Given the description of an element on the screen output the (x, y) to click on. 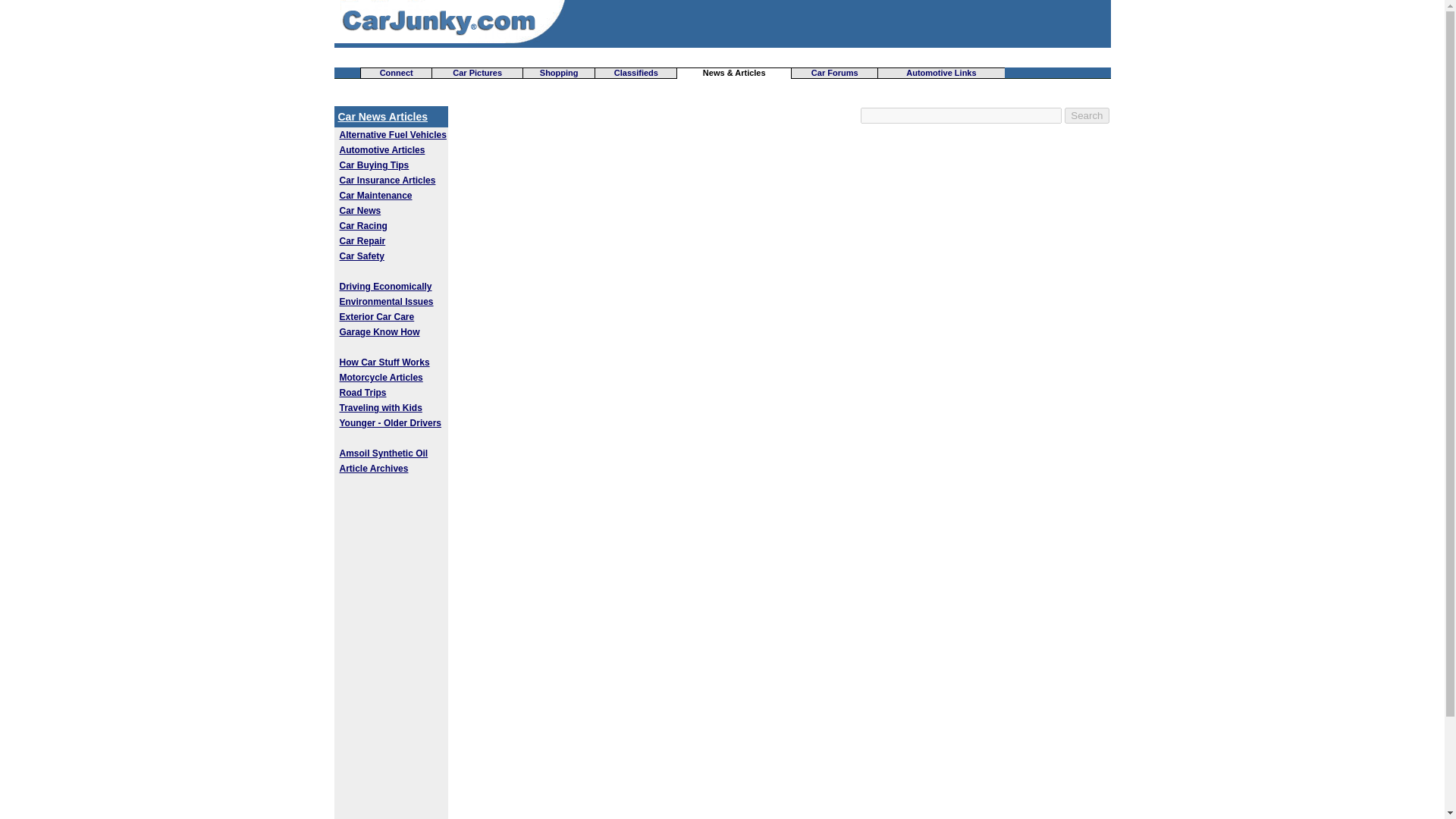
Alternative Fuel Vehicles (392, 134)
Garage Know How (379, 331)
Car News Articles (382, 116)
Search (1086, 115)
Automotive Links (940, 72)
Car Buying Tips (374, 164)
Search (1086, 115)
Driving Economically (385, 286)
Car Racing (363, 225)
Amsoil Synthetic Oil (383, 452)
